Given the description of an element on the screen output the (x, y) to click on. 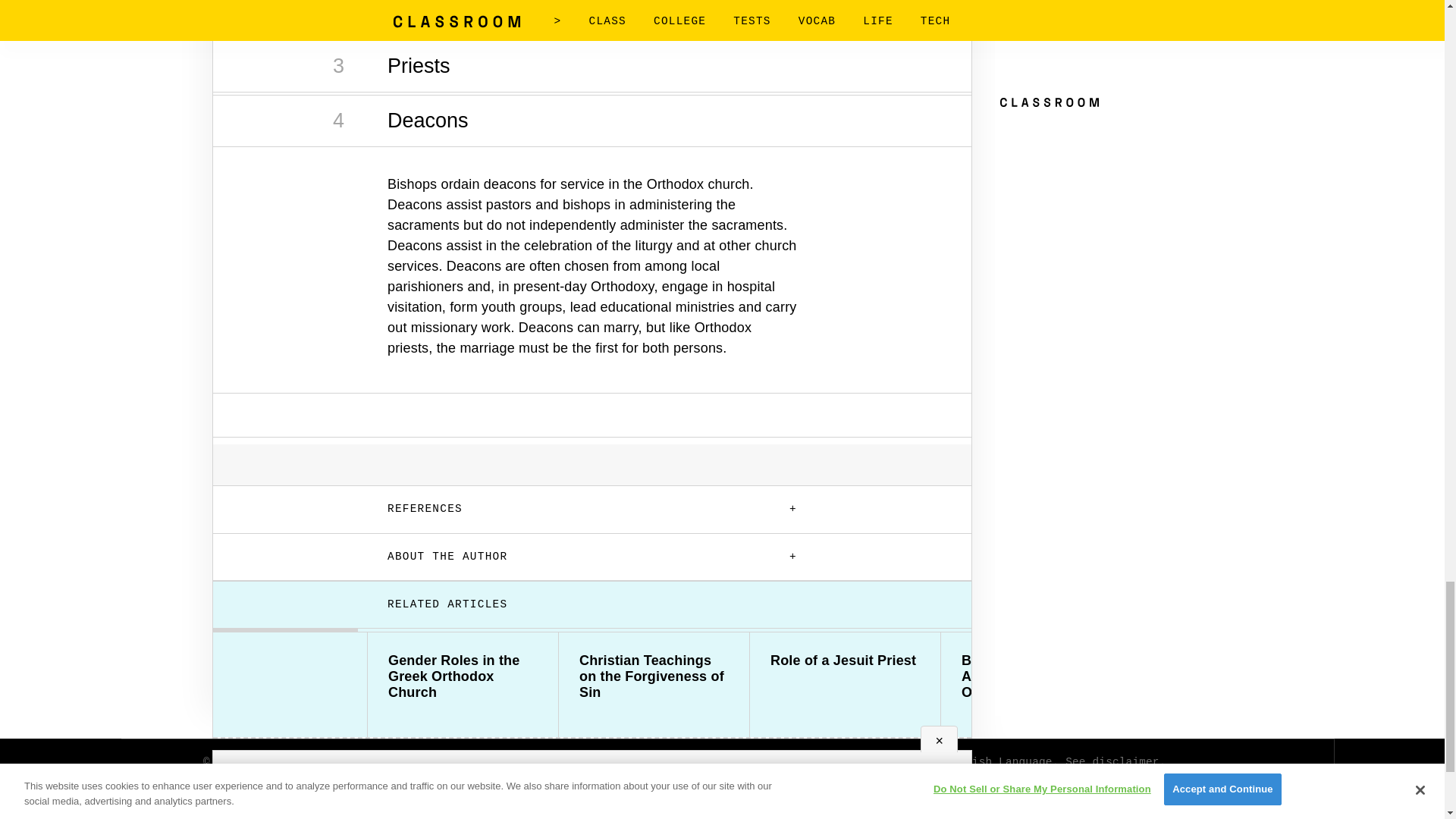
Role of a Jesuit Priest (844, 660)
How the Catholic Church Works (1227, 668)
About (221, 813)
Christian Teachings on the Forgiveness of Sin (654, 676)
Gender Roles in the Greek Orthodox Church (462, 676)
Beliefs of the American and Greek Orthodox Religion (1035, 676)
